Given the description of an element on the screen output the (x, y) to click on. 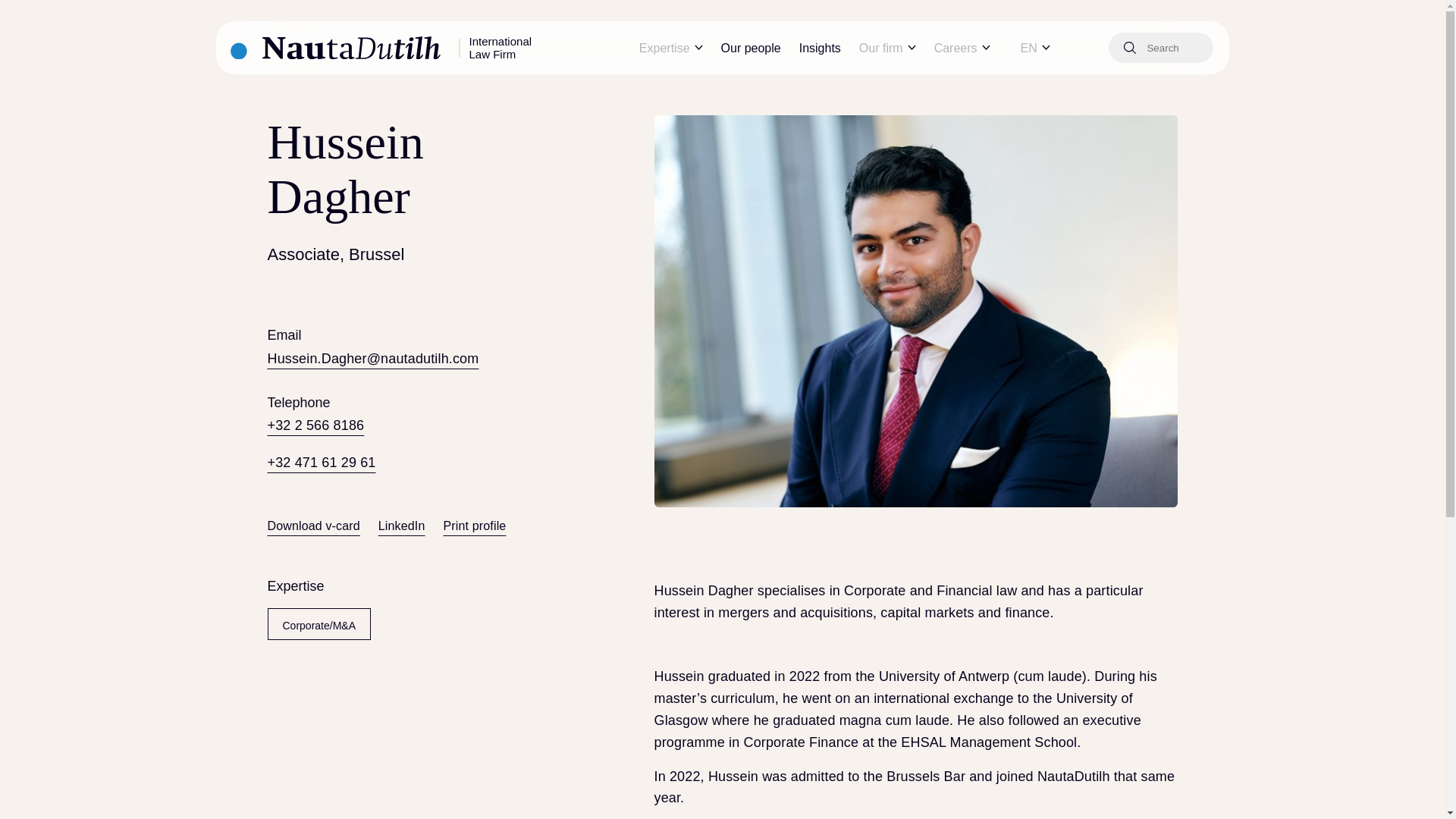
Print profile (475, 525)
Careers (962, 48)
Insights (820, 47)
LinkedIn (401, 525)
Download v-card (312, 525)
Expertise (671, 48)
EN (1037, 48)
Our firm (887, 48)
Our people (750, 47)
